Given the description of an element on the screen output the (x, y) to click on. 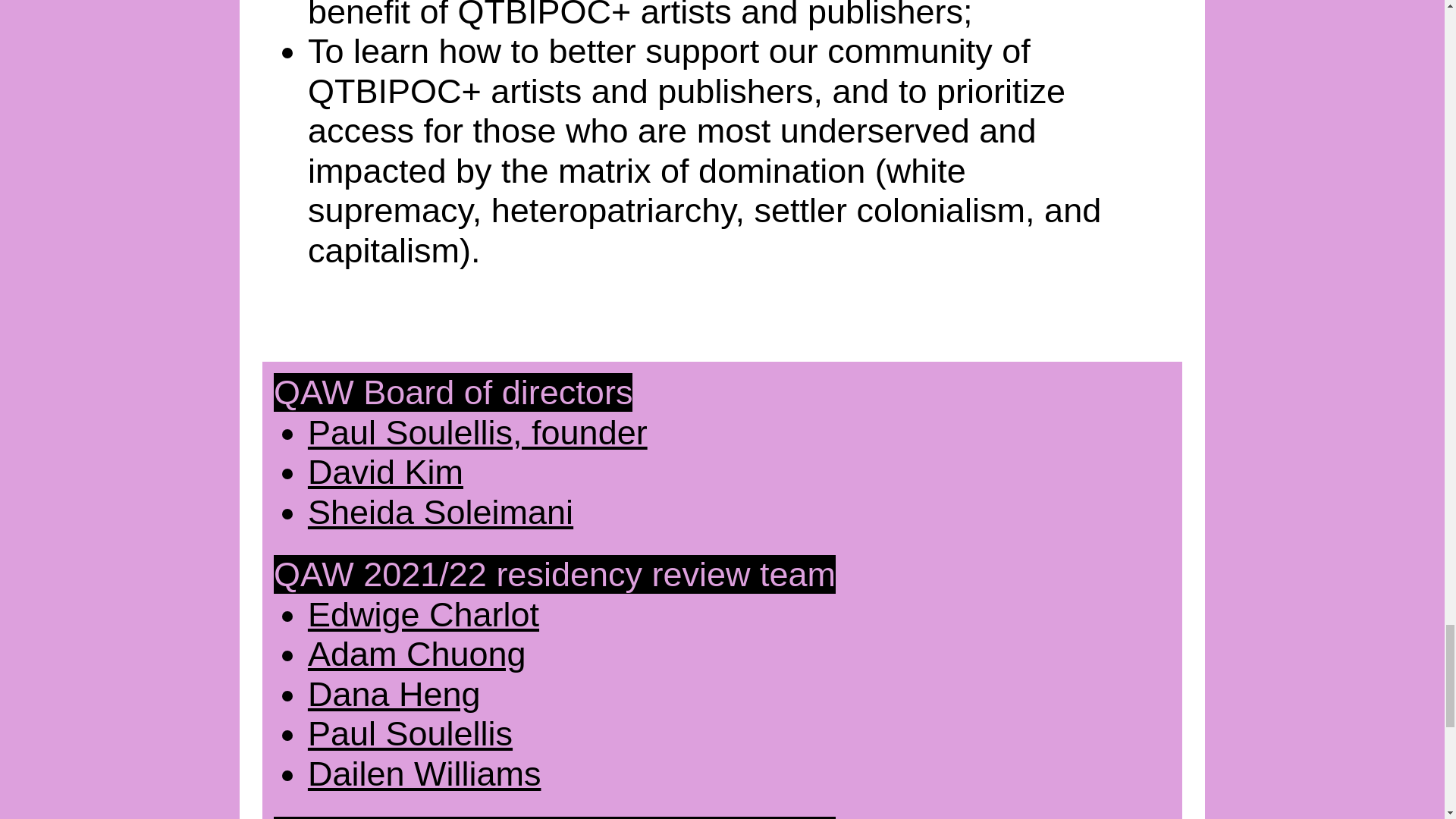
Adam Chuong (416, 653)
David Kim (385, 471)
Dailen Williams (424, 773)
Dana Heng (393, 693)
Edwige Charlot (422, 614)
Paul Soulellis (409, 733)
Paul Soulellis, founder (477, 432)
Sheida Soleimani (440, 512)
